Given the description of an element on the screen output the (x, y) to click on. 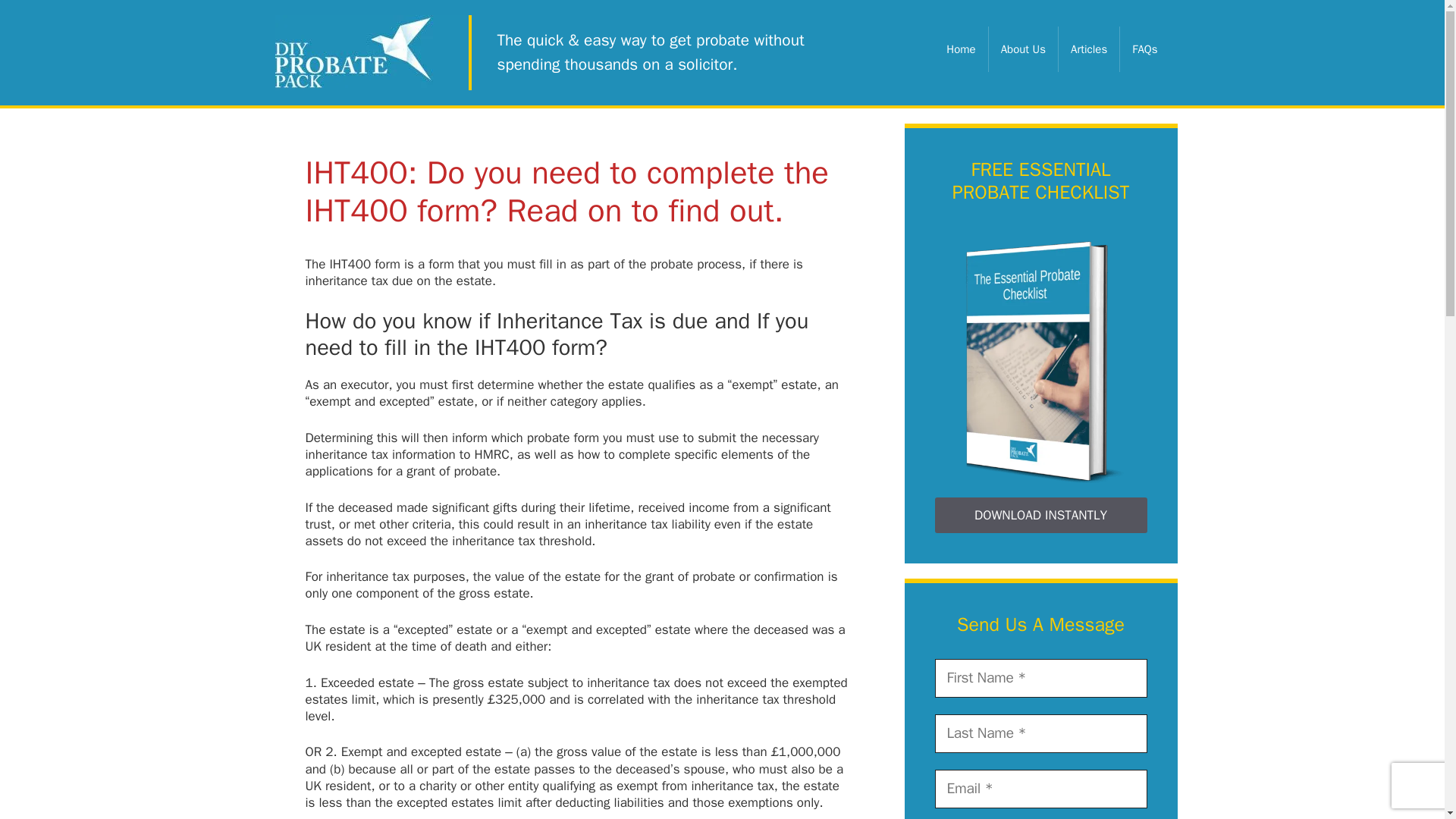
FAQs (1144, 48)
About Us (1023, 48)
DOWNLOAD INSTANTLY (1040, 515)
Home (961, 48)
Articles (1088, 48)
